Given the description of an element on the screen output the (x, y) to click on. 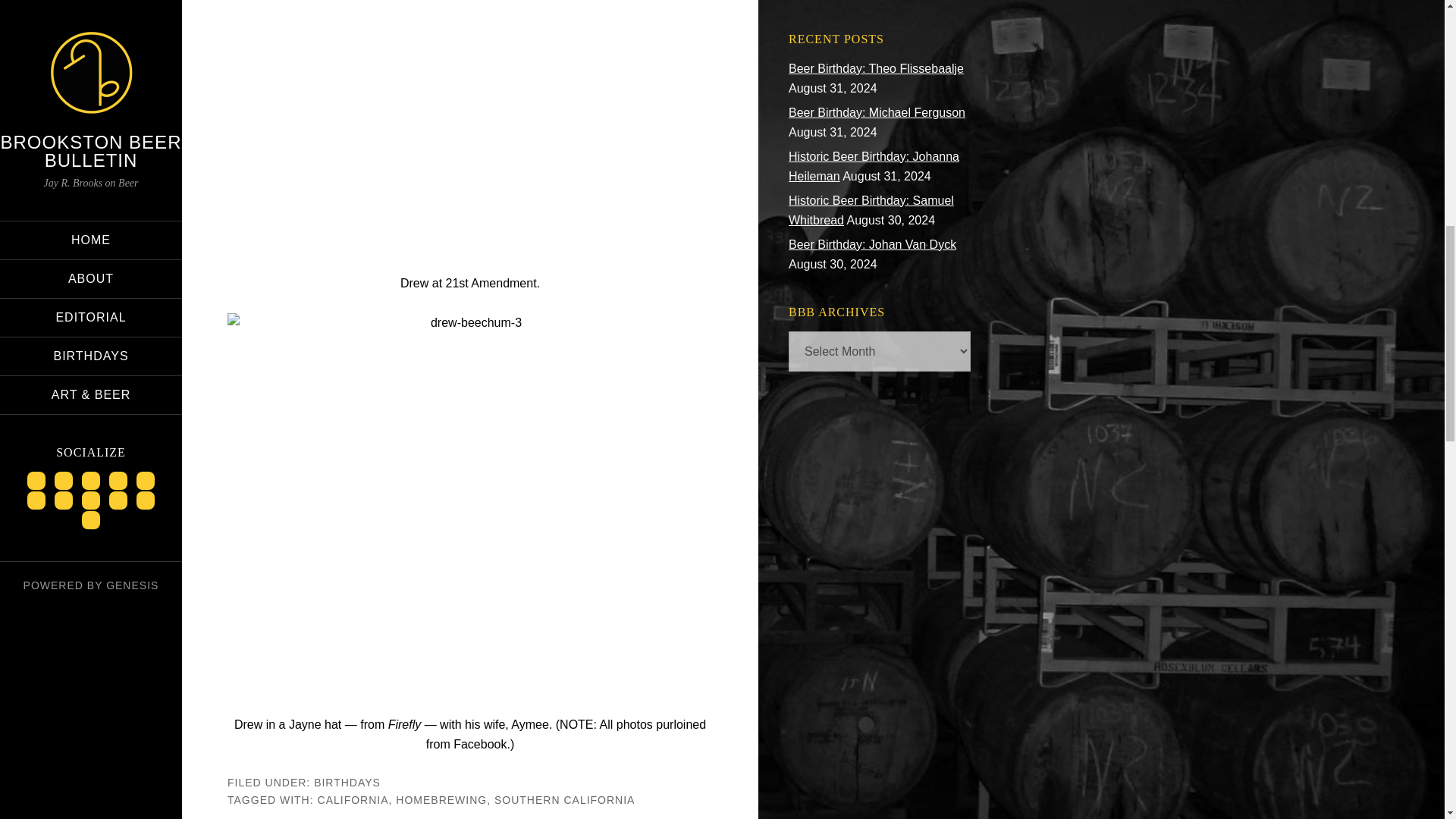
HOMEBREWING (441, 799)
BIRTHDAYS (347, 782)
CALIFORNIA (352, 799)
SOUTHERN CALIFORNIA (564, 799)
